Given the description of an element on the screen output the (x, y) to click on. 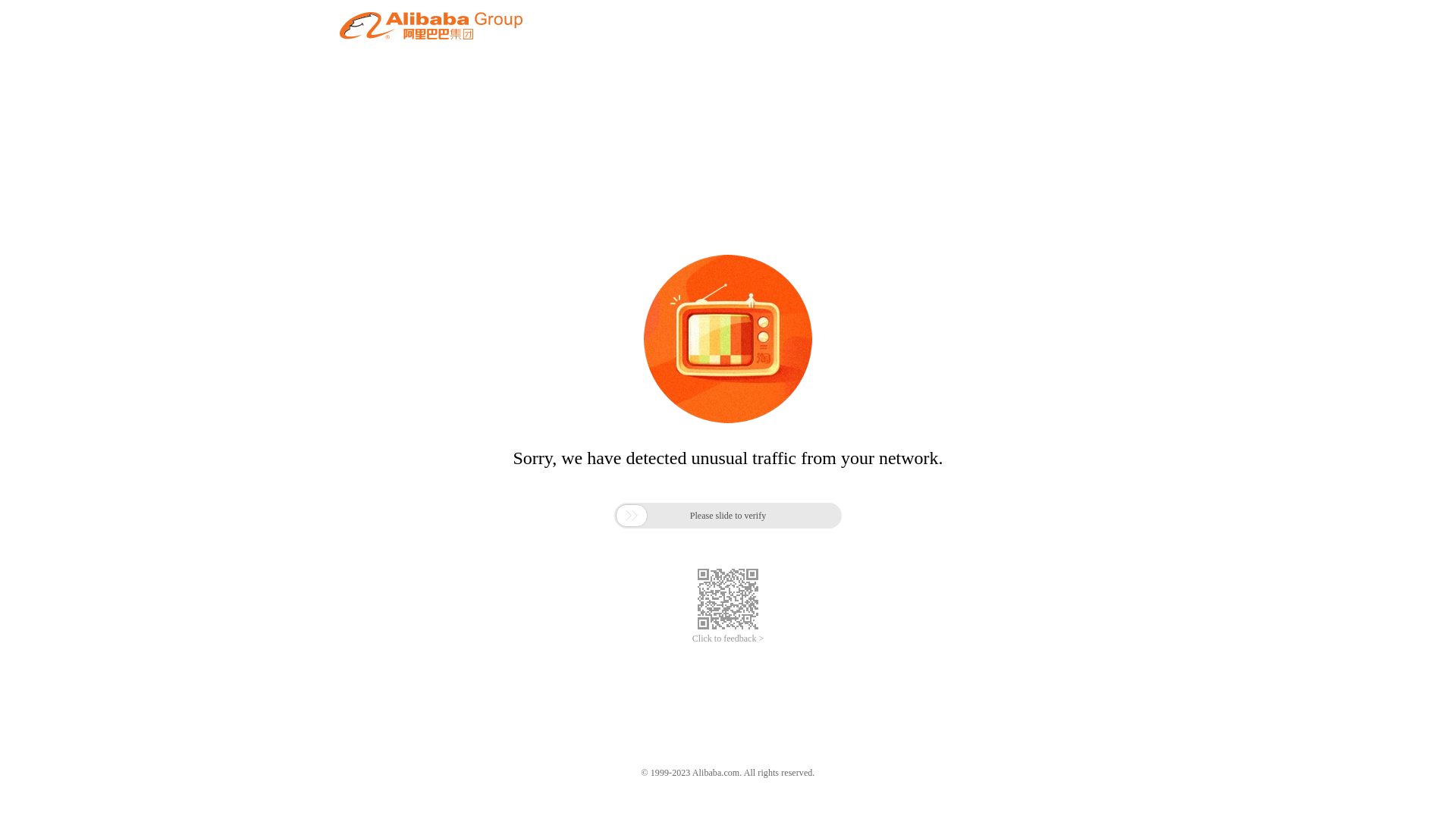
Click to feedback > Element type: text (727, 638)
